Given the description of an element on the screen output the (x, y) to click on. 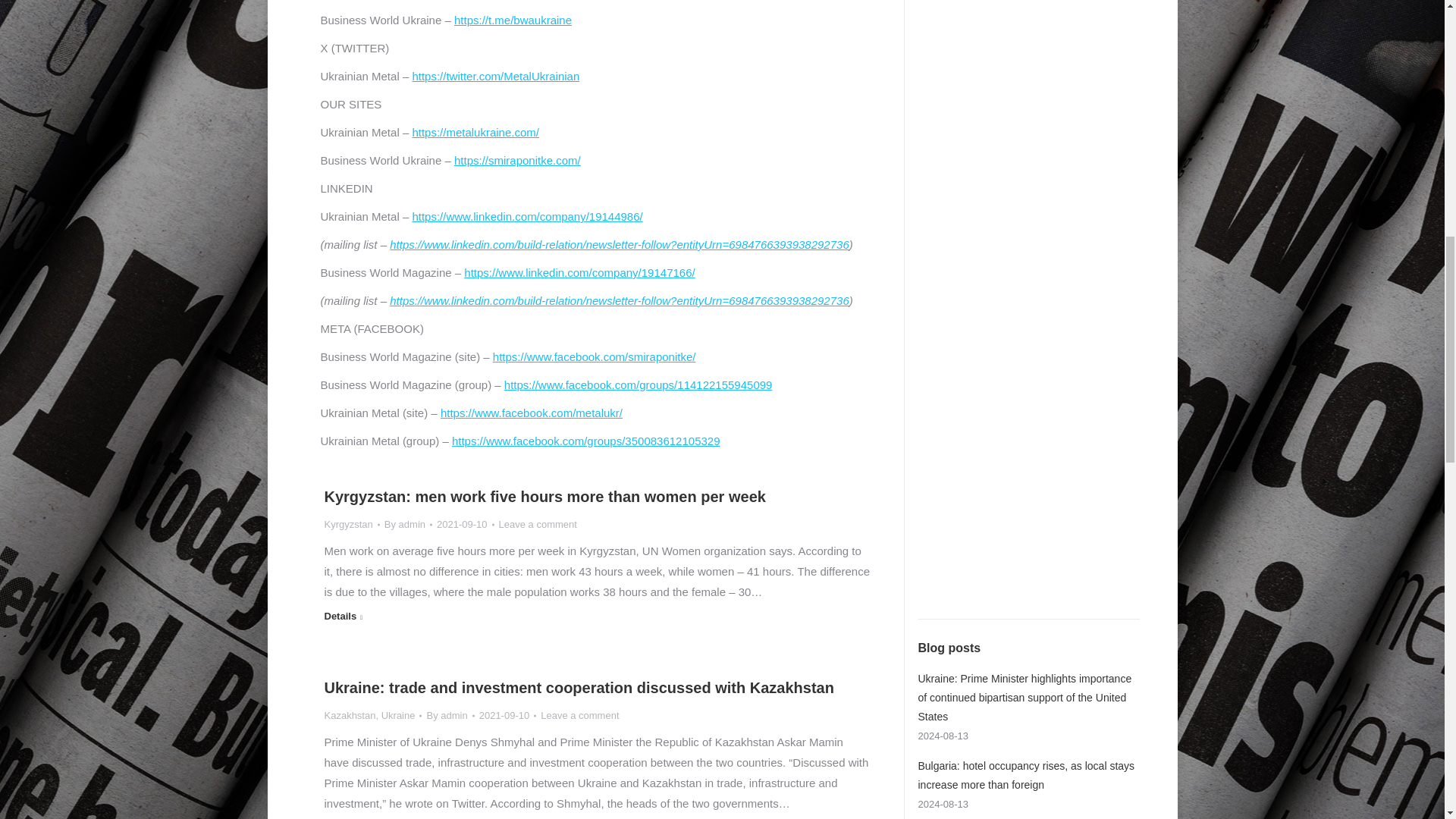
Ukraine (397, 715)
View all posts by admin (450, 714)
By admin (408, 524)
Details (343, 618)
Kyrgyzstan (348, 523)
6:48 AM (465, 524)
By admin (450, 714)
2021-09-10 (465, 524)
6:47 AM (508, 714)
